Given the description of an element on the screen output the (x, y) to click on. 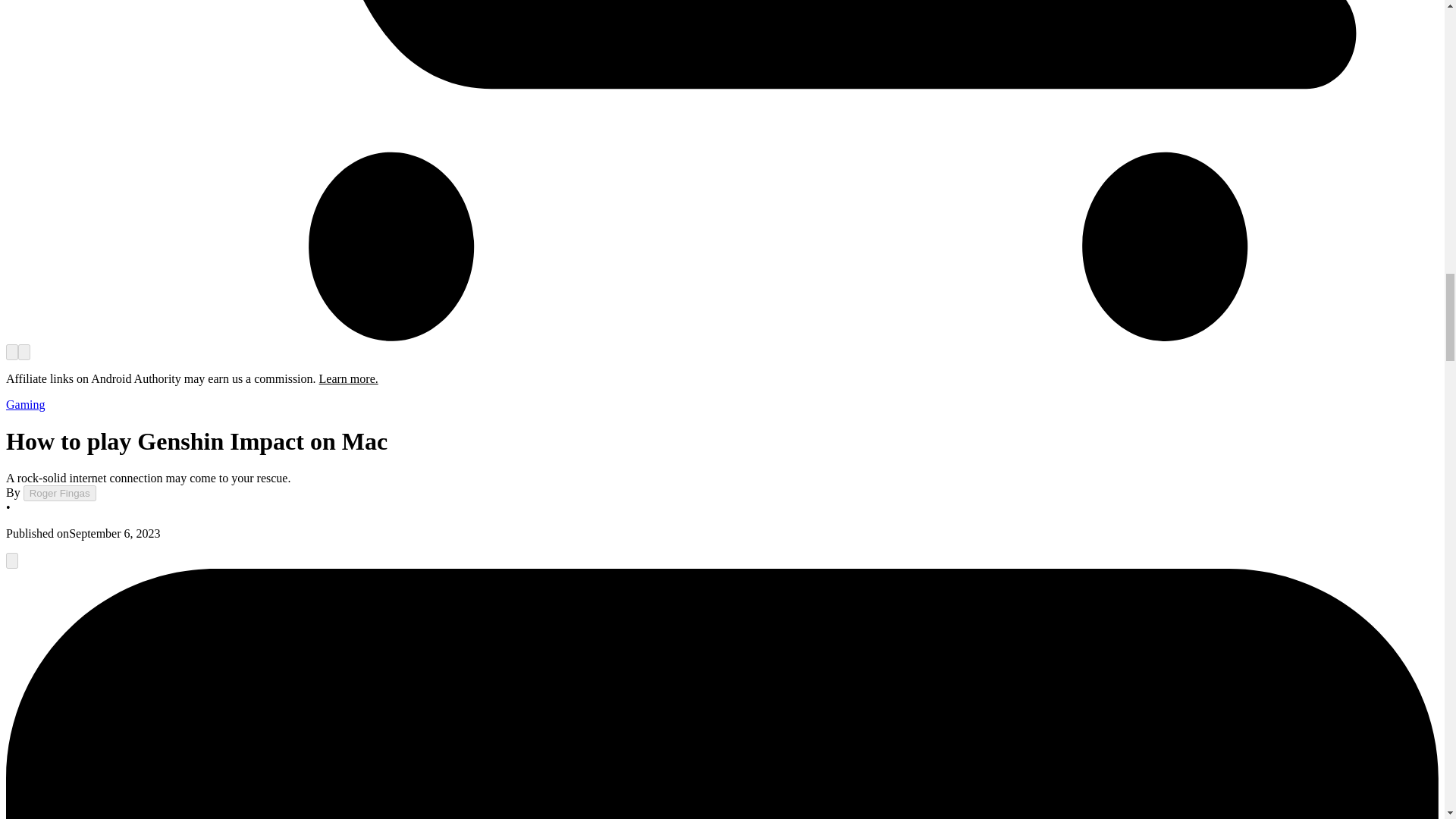
Learn more. (348, 378)
Roger Fingas (59, 493)
Gaming (25, 404)
